Given the description of an element on the screen output the (x, y) to click on. 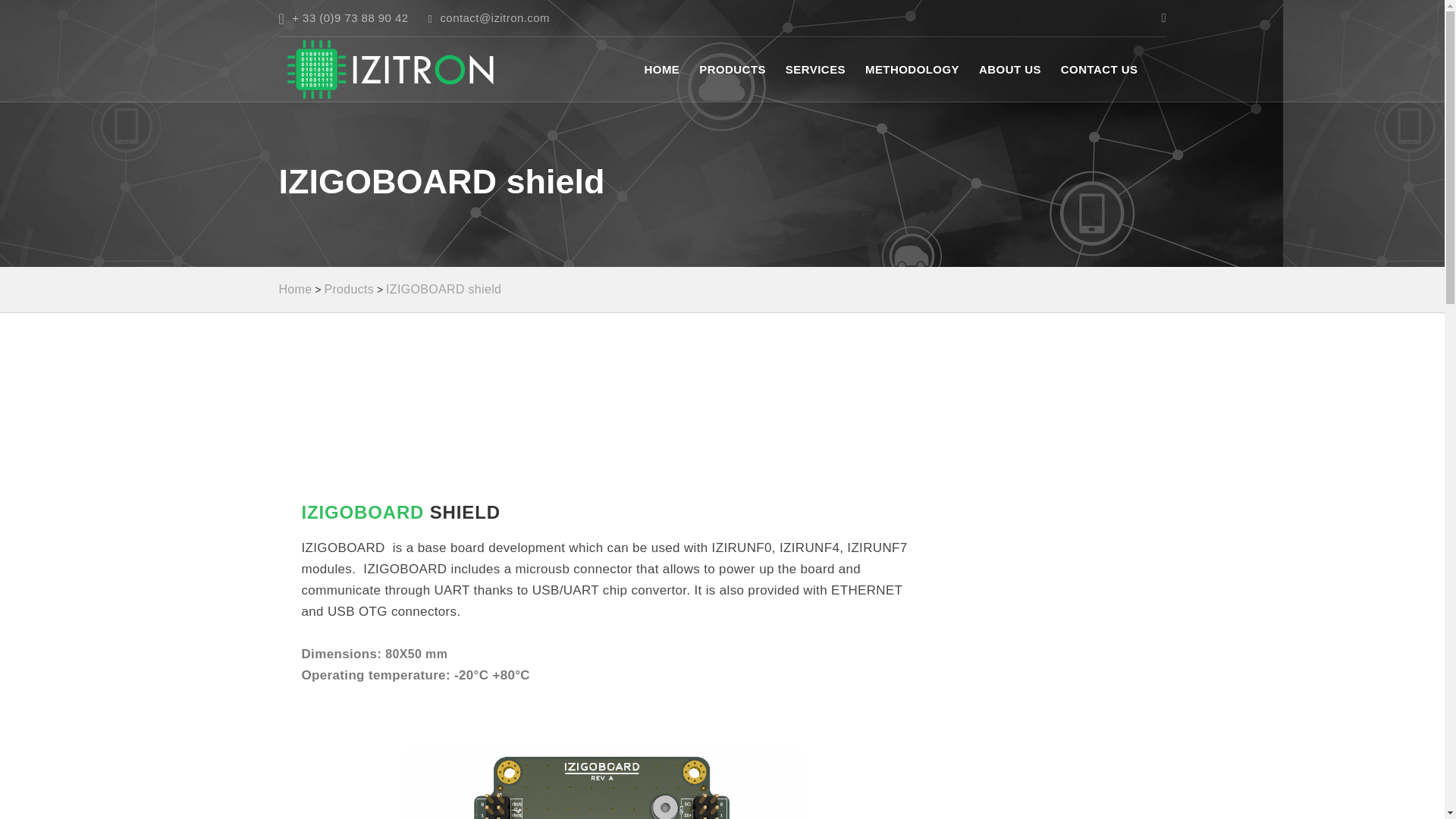
ABOUT US (1009, 68)
PRODUCTS (731, 68)
SERVICES (815, 68)
Go to Home. (296, 288)
Products (348, 288)
IZIGOBOARD shield (442, 288)
Go to the Products Services categories archives. (348, 288)
METHODOLOGY (911, 68)
Home (296, 288)
CONTACT US (1099, 68)
